Given the description of an element on the screen output the (x, y) to click on. 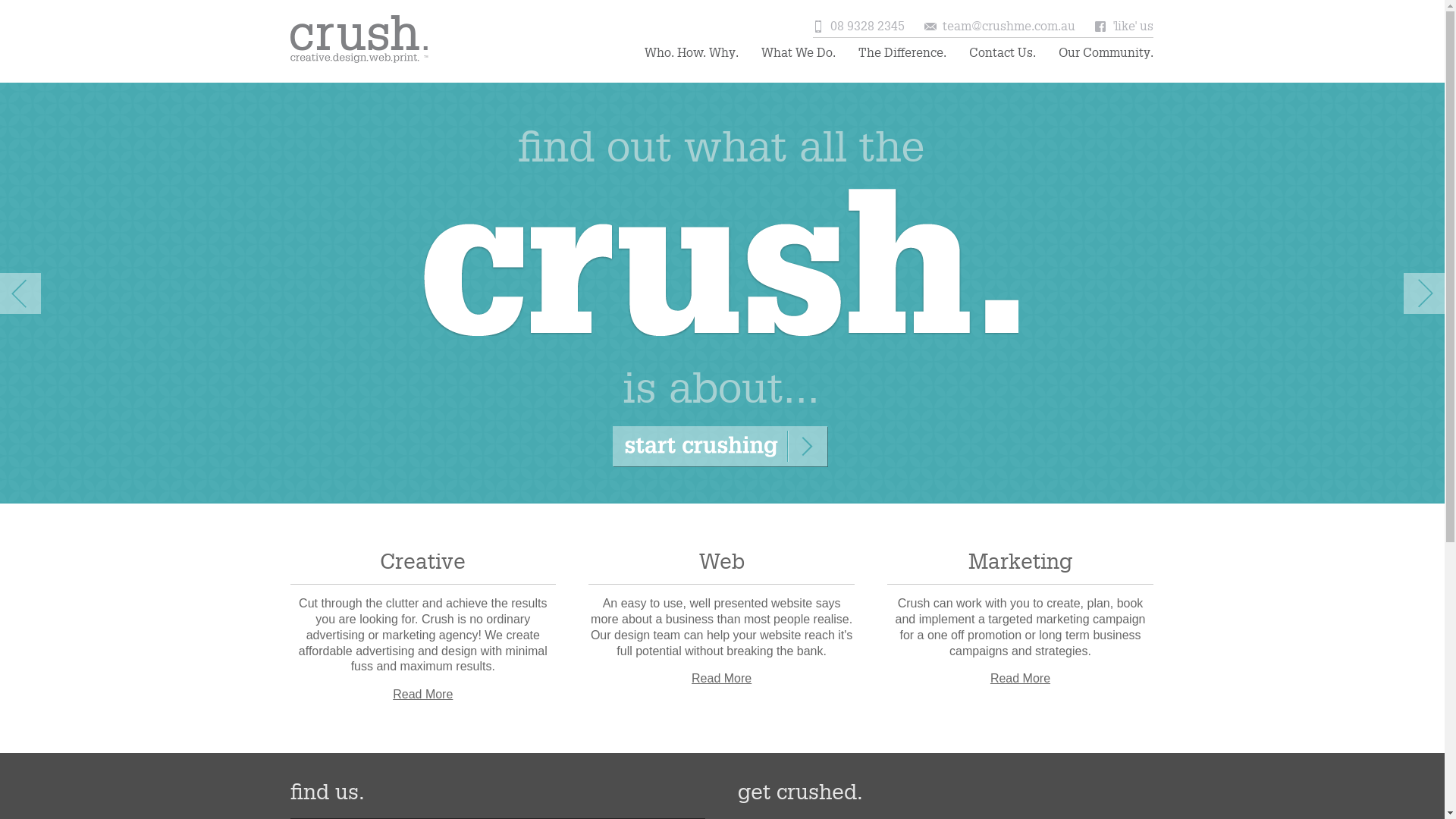
08 9328 2345 Element type: text (867, 26)
Read More Element type: text (1020, 677)
Our Community. Element type: text (1105, 53)
Read More Element type: text (721, 677)
The Difference. Element type: text (902, 53)
'like' us Element type: text (1133, 26)
What We Do. Element type: text (798, 53)
Marketing Element type: text (1020, 562)
Creative Element type: text (422, 562)
Read More Element type: text (422, 693)
Who. How. Why. Element type: text (691, 53)
Web Element type: text (721, 562)
team@crushme.com.au Element type: text (1008, 26)
Contact Us. Element type: text (1002, 53)
